Given the description of an element on the screen output the (x, y) to click on. 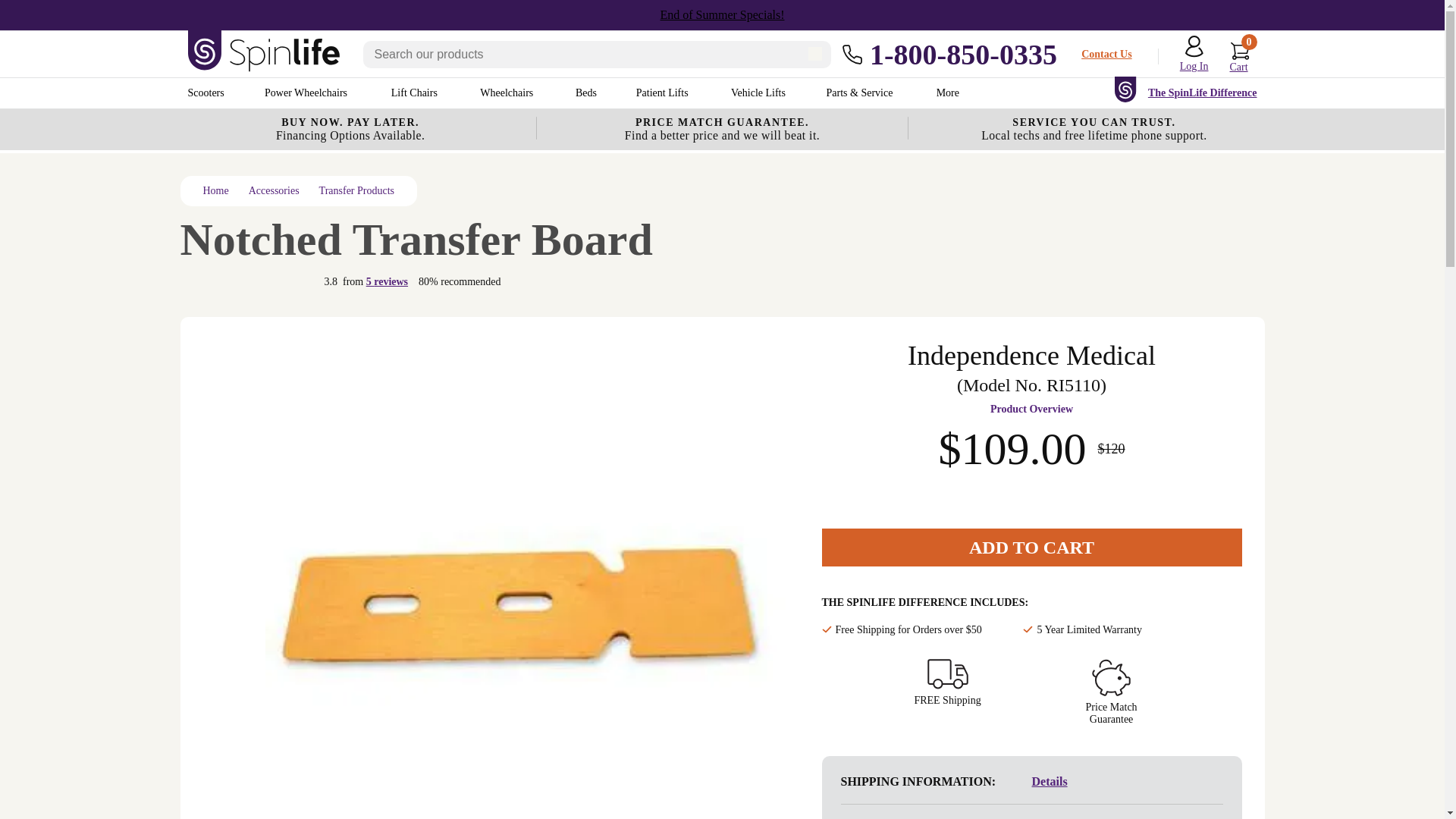
Wheelchairs (508, 92)
Patient Lifts (664, 92)
1-800-850-0335 (950, 53)
Transfer Products category page. (356, 190)
Scooters (207, 92)
Power Wheelchairs (308, 92)
Spinlife.com home page. (215, 190)
End of Summer Specials! (722, 15)
Vehicle Lifts (758, 92)
